Given the description of an element on the screen output the (x, y) to click on. 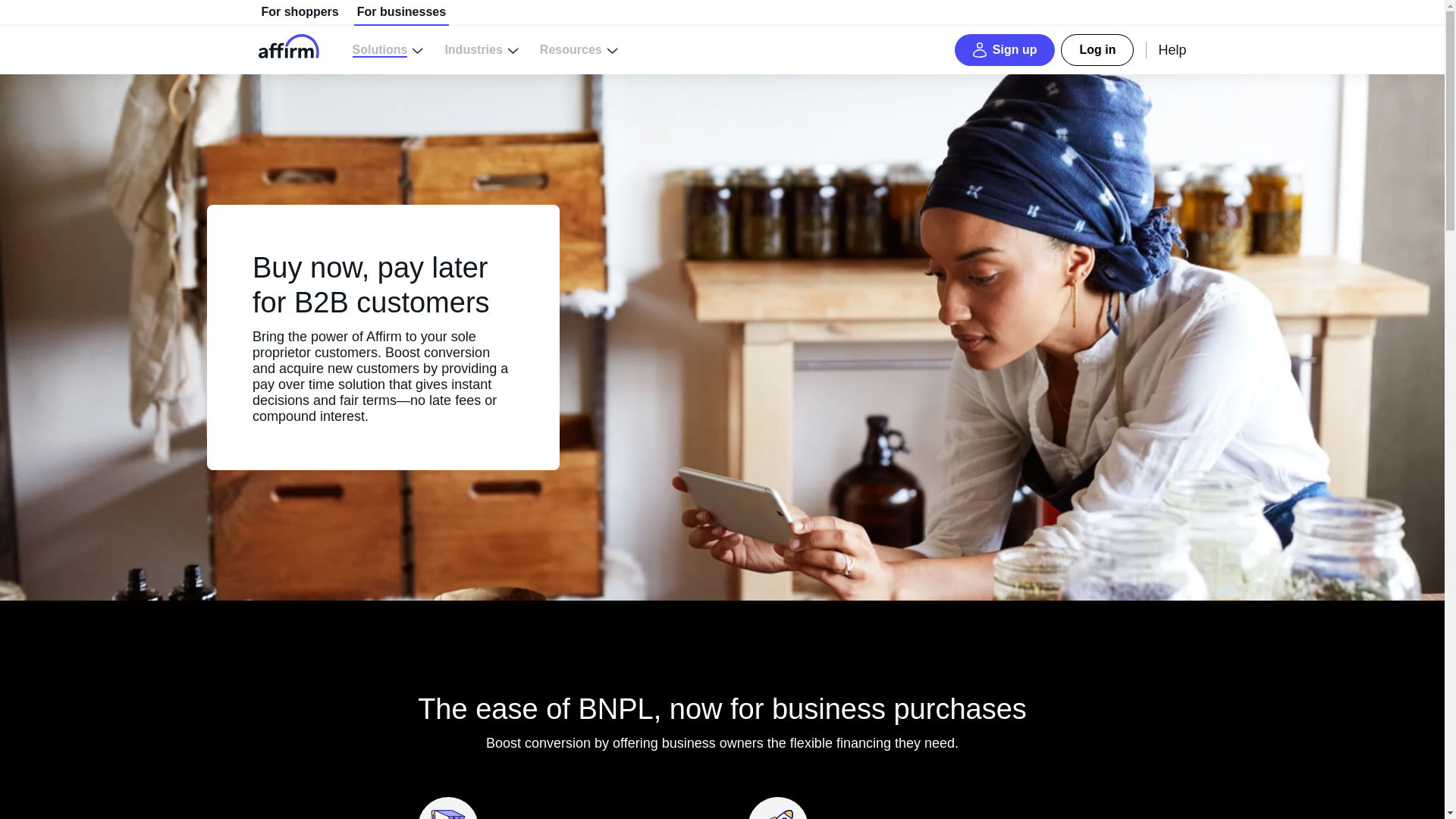
Solutions (387, 49)
Industries (481, 49)
Help (1165, 49)
Resources (579, 49)
Log in (1097, 50)
Sign up (1005, 50)
For businesses (400, 12)
For shoppers (298, 12)
